Given the description of an element on the screen output the (x, y) to click on. 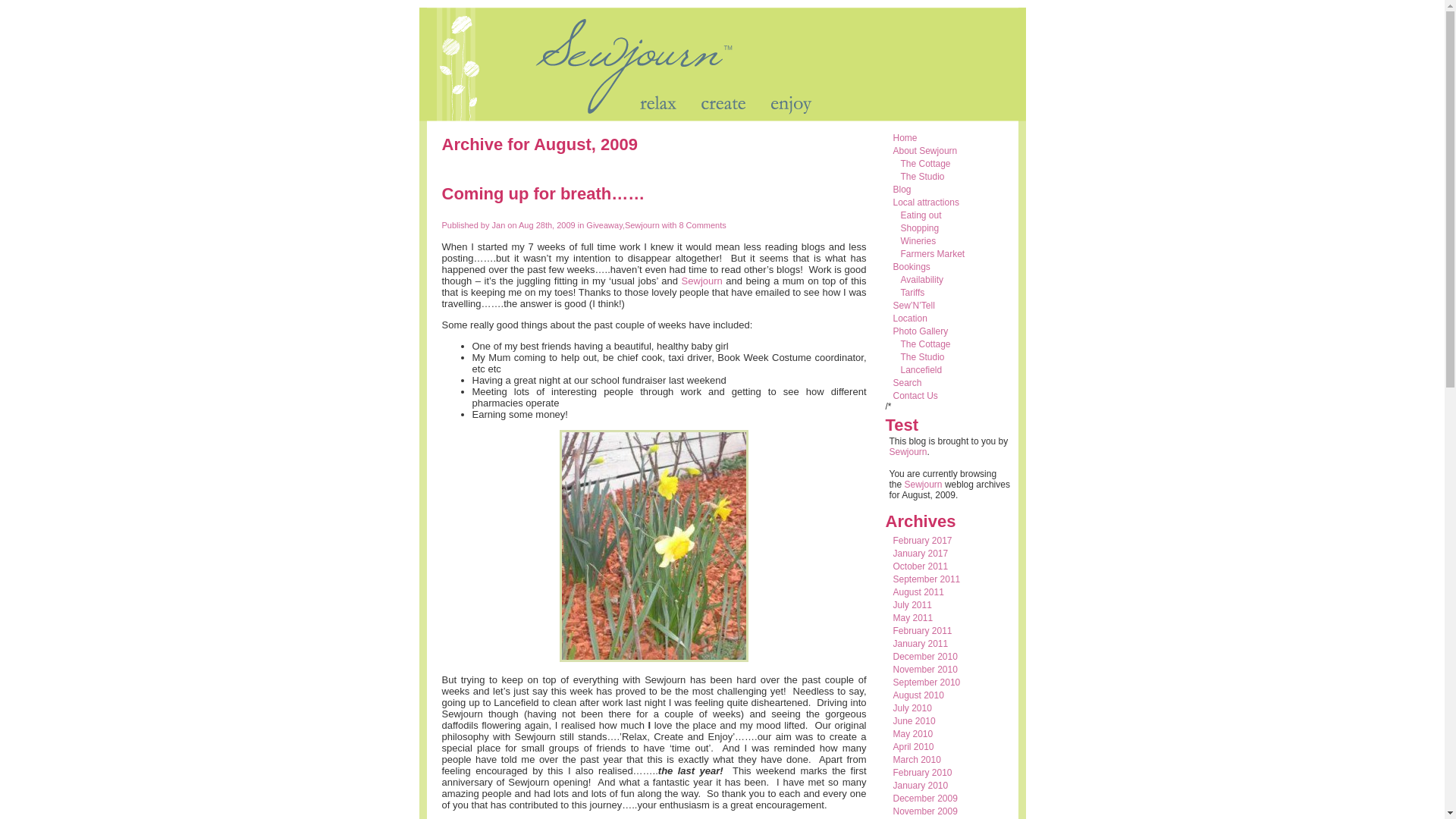
March 2010 Element type: text (917, 759)
January 2017 Element type: text (920, 553)
August 2010 Element type: text (918, 695)
July 2011 Element type: text (912, 604)
Wineries Element type: text (918, 240)
February 2011 Element type: text (922, 630)
February 2017 Element type: text (922, 540)
img_4566 Element type: hover (653, 545)
February 2010 Element type: text (922, 772)
Contact Us Element type: text (915, 395)
Tariffs Element type: text (912, 292)
Giveaway Element type: text (603, 224)
July 2010 Element type: text (912, 707)
Blog Element type: text (902, 189)
Farmers Market Element type: text (932, 253)
Sewjourn Element type: text (907, 451)
The Studio Element type: text (922, 356)
October 2011 Element type: text (920, 566)
Photo Gallery Element type: text (920, 331)
May 2010 Element type: text (913, 733)
About Sewjourn Element type: text (925, 150)
Jan Element type: text (498, 224)
September 2011 Element type: text (926, 579)
Search Element type: text (907, 382)
August 2011 Element type: text (918, 591)
Shopping Element type: text (919, 227)
January 2011 Element type: text (920, 643)
Bookings Element type: text (911, 266)
Sewjourn Element type: text (701, 280)
April 2010 Element type: text (913, 746)
January 2010 Element type: text (920, 785)
Location Element type: text (910, 318)
Sewjourn Element type: text (923, 484)
November 2009 Element type: text (925, 811)
Availability Element type: text (921, 279)
Eating out Element type: text (920, 215)
December 2010 Element type: text (925, 656)
Local attractions Element type: text (926, 202)
The Cottage Element type: text (925, 163)
The Studio Element type: text (922, 176)
Home Element type: text (905, 137)
Sewjourn Element type: text (641, 224)
December 2009 Element type: text (925, 798)
The Cottage Element type: text (925, 343)
June 2010 Element type: text (914, 720)
September 2010 Element type: text (926, 682)
Lancefield Element type: text (921, 369)
8 Comments Element type: text (700, 224)
November 2010 Element type: text (925, 669)
May 2011 Element type: text (913, 617)
